Given the description of an element on the screen output the (x, y) to click on. 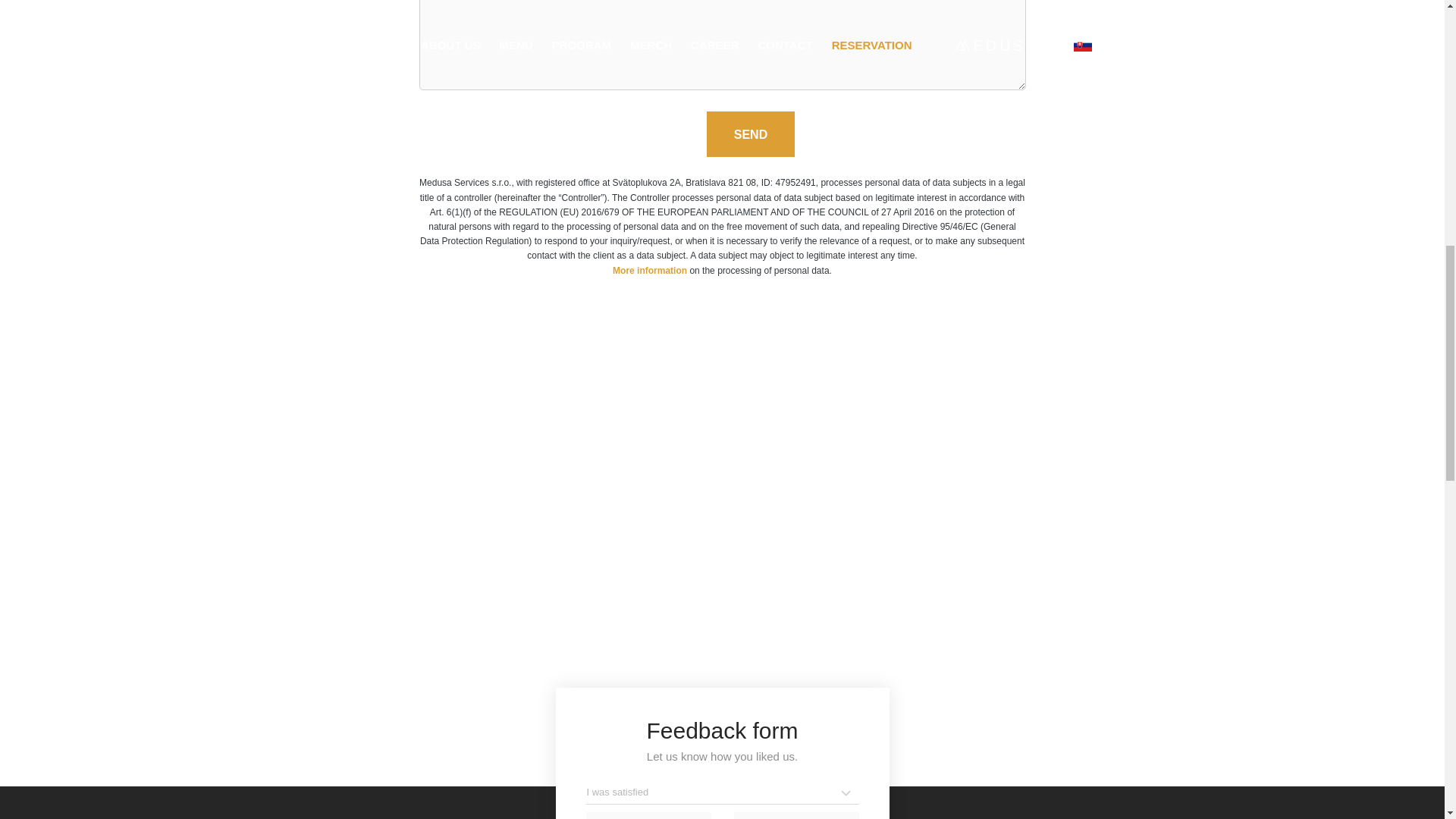
More information (649, 270)
Send (750, 134)
Send (750, 134)
